Given the description of an element on the screen output the (x, y) to click on. 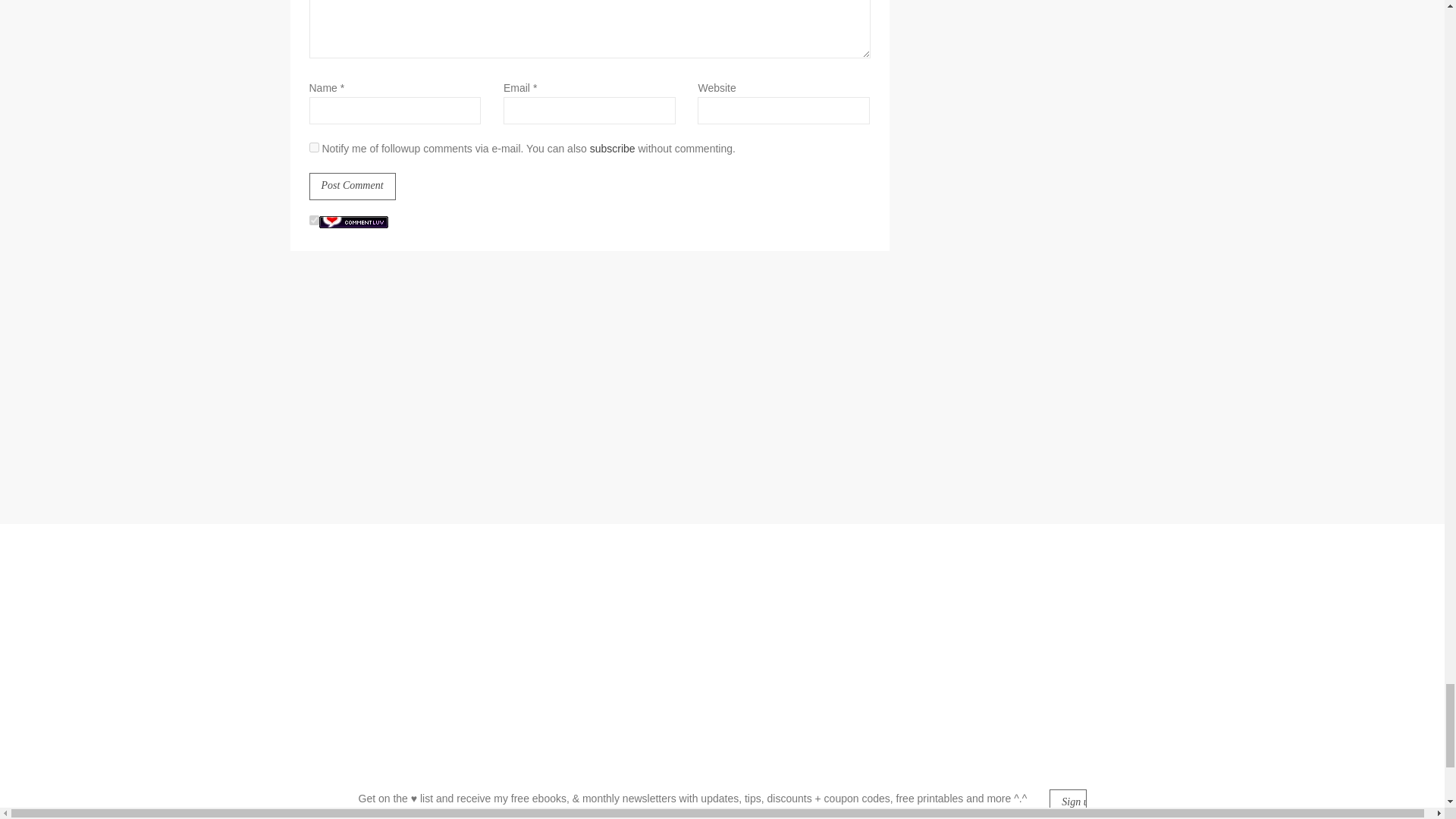
Sign up (1067, 802)
on (313, 220)
Post Comment (352, 185)
yes (313, 147)
